Given the description of an element on the screen output the (x, y) to click on. 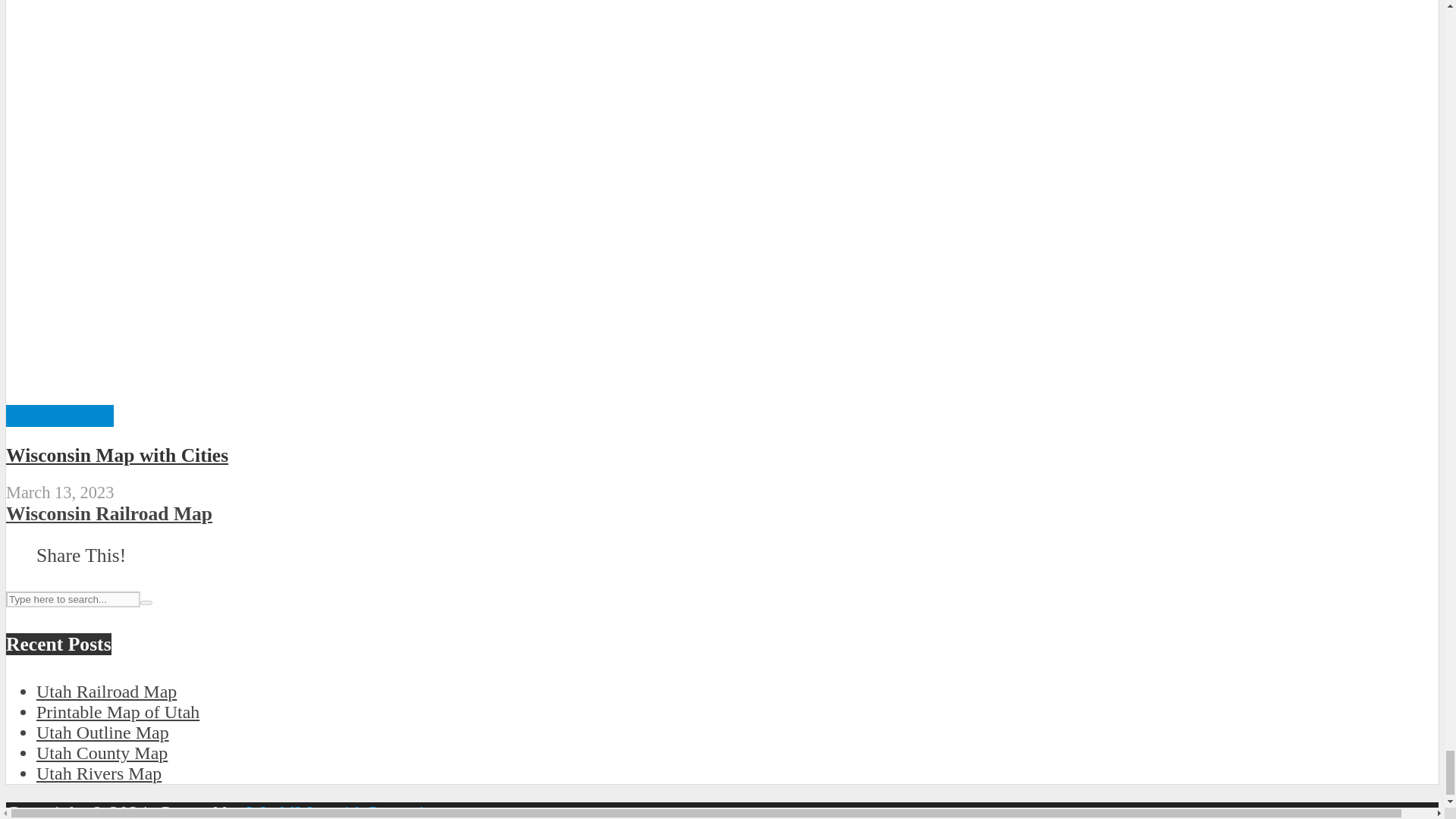
Wisconsin Map with Cities (730, 393)
